Given the description of an element on the screen output the (x, y) to click on. 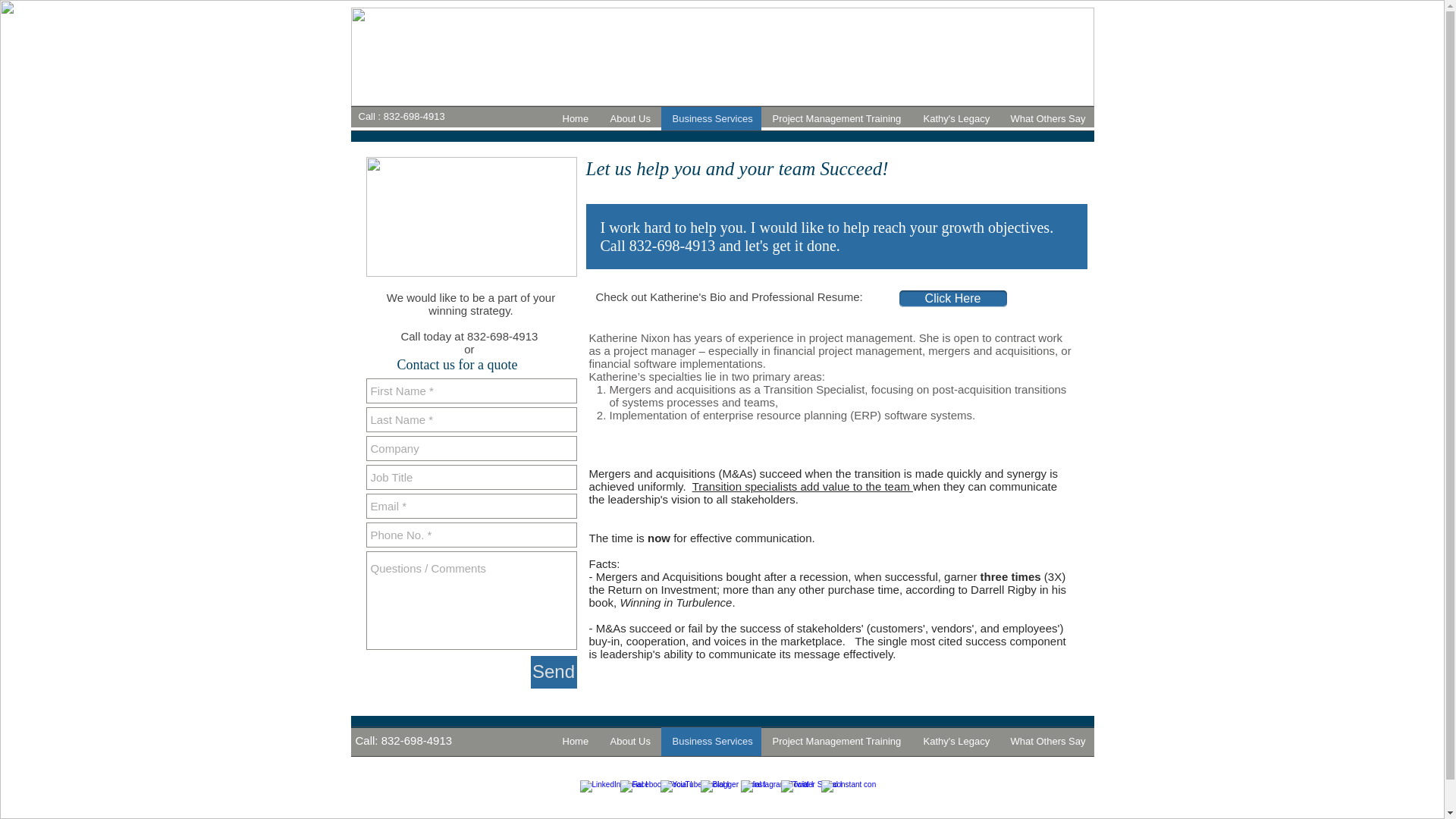
Send (553, 672)
About Us (629, 741)
Click Here (953, 298)
About Us (629, 118)
What Others Say (1046, 741)
Home (574, 118)
Kathy's Legacy (954, 118)
Project Management Training (836, 118)
Kathy's Legacy (954, 741)
Home (574, 741)
Business Services (711, 118)
Project Management Training (836, 741)
Business Services (711, 741)
What Others Say (1046, 118)
